Given the description of an element on the screen output the (x, y) to click on. 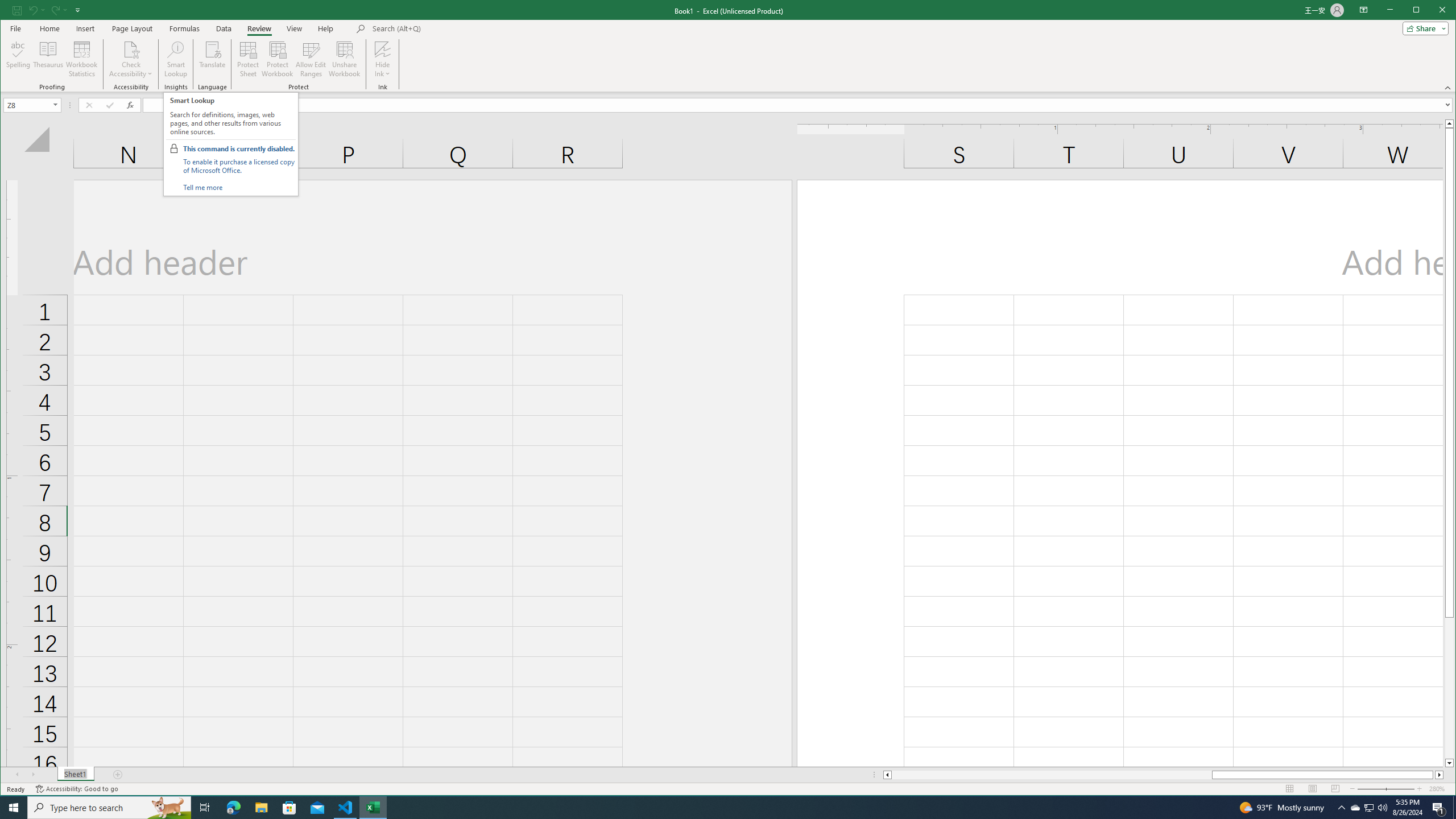
Thesaurus... (48, 59)
Action Center, 1 new notification (1439, 807)
File Explorer (261, 807)
